Given the description of an element on the screen output the (x, y) to click on. 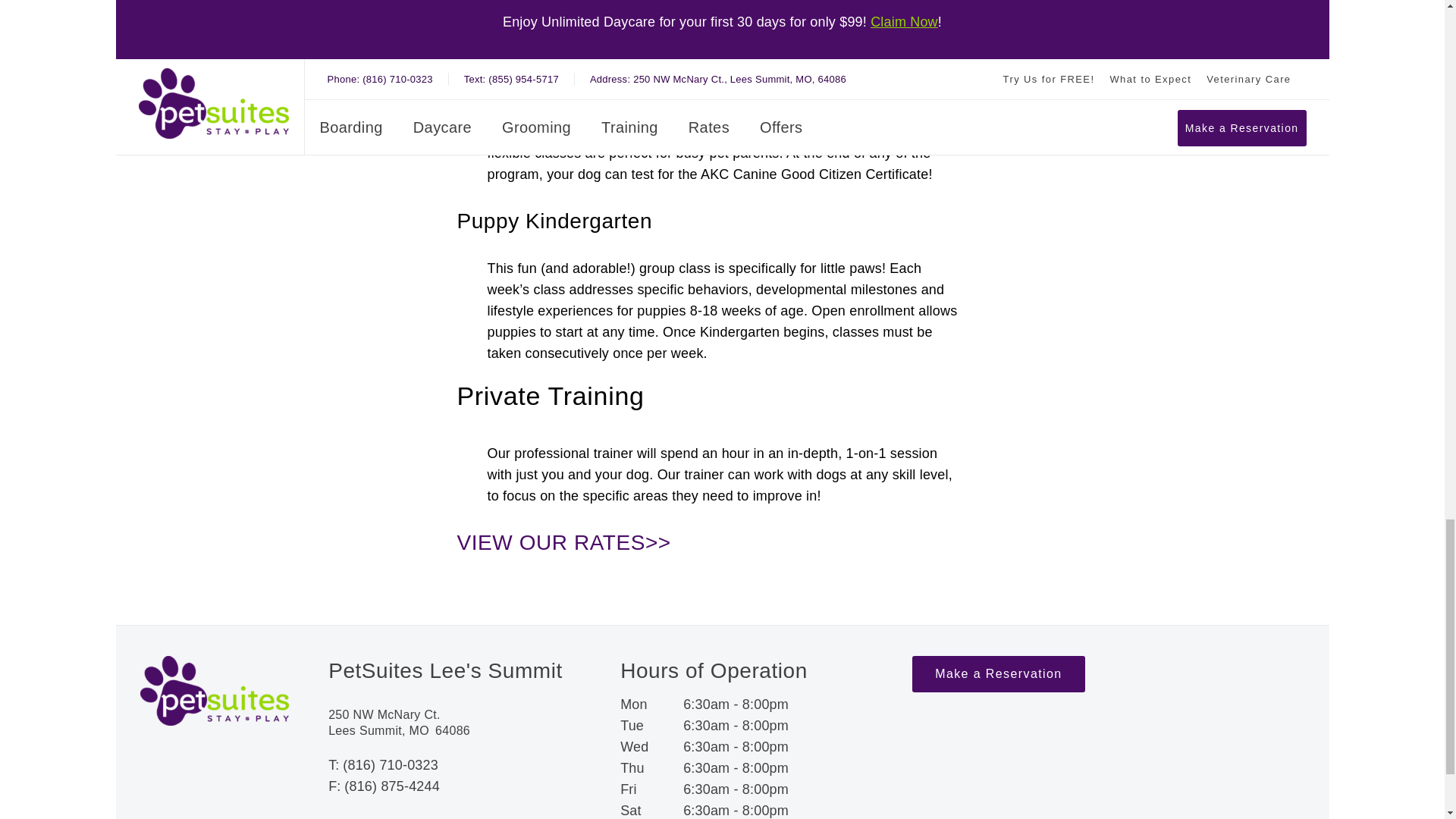
Make a Reservation (998, 704)
